Given the description of an element on the screen output the (x, y) to click on. 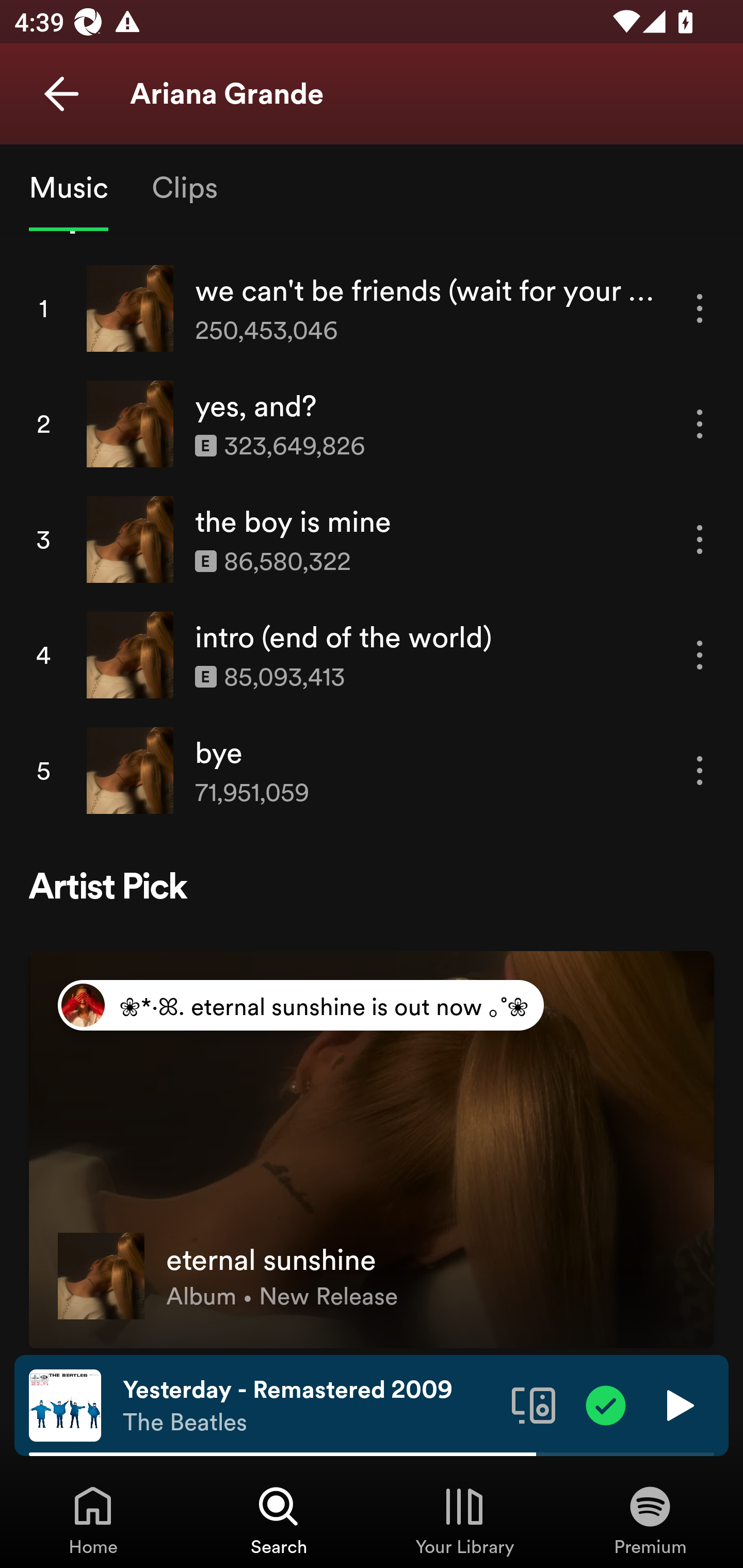
Back (60, 93)
Clips (184, 187)
More options for song yes, and? (699, 424)
More options for song the boy is mine (699, 539)
More options for song intro (end of the world) (699, 654)
5 bye 71,951,059 More options for song bye (371, 770)
More options for song bye (699, 770)
Yesterday - Remastered 2009 The Beatles (309, 1405)
The cover art of the currently playing track (64, 1404)
Connect to a device. Opens the devices menu (533, 1404)
Item added (605, 1404)
Play (677, 1404)
Home, Tab 1 of 4 Home Home (92, 1519)
Search, Tab 2 of 4 Search Search (278, 1519)
Your Library, Tab 3 of 4 Your Library Your Library (464, 1519)
Premium, Tab 4 of 4 Premium Premium (650, 1519)
